Given the description of an element on the screen output the (x, y) to click on. 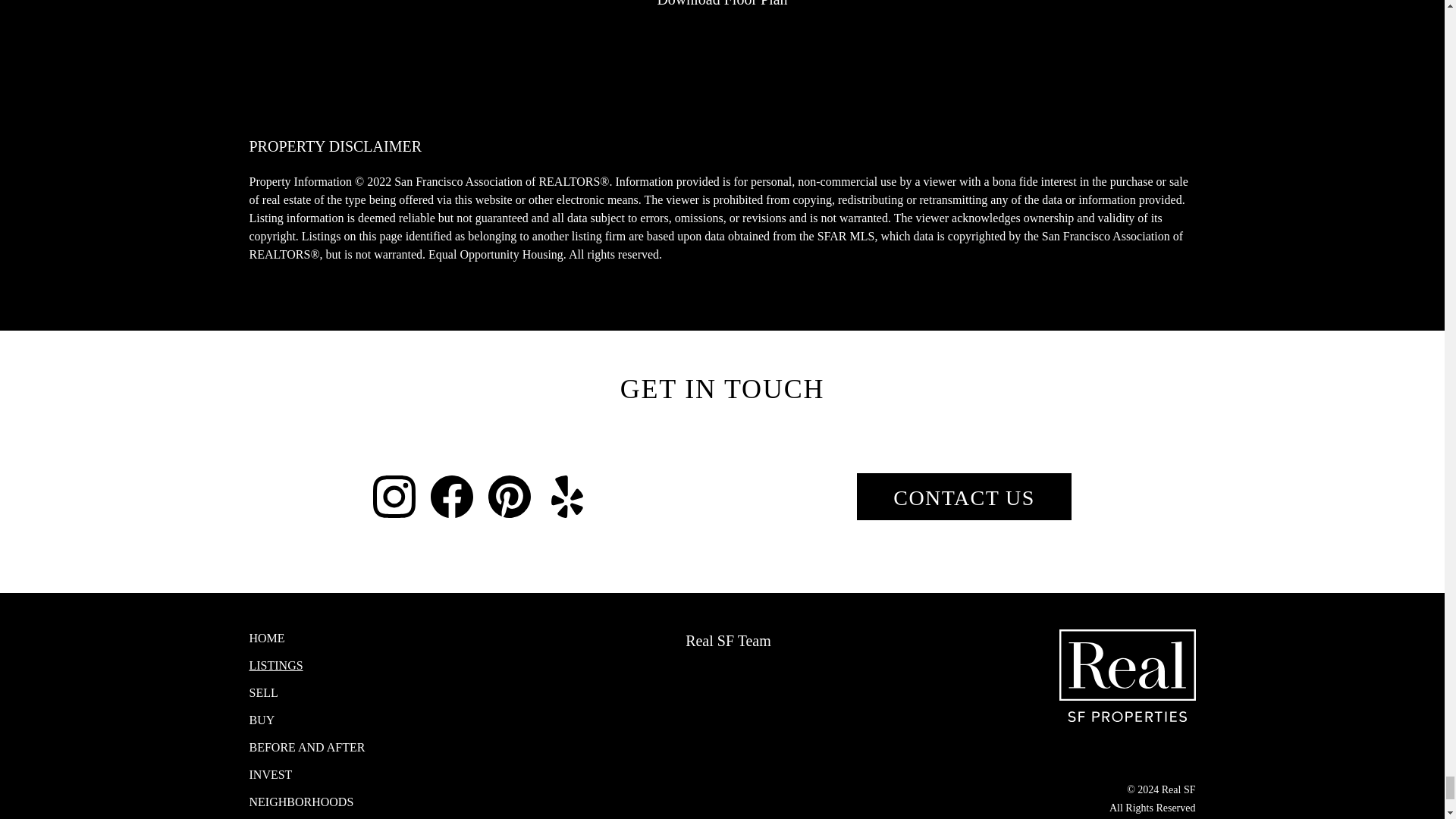
Facebook New Window (451, 496)
Yelp New Window (567, 496)
BEFORE AND AFTER (330, 747)
BUY (330, 720)
Download Floor Plan (721, 3)
HOME (330, 638)
CONTACT US (963, 496)
SELL (330, 692)
NEIGHBORHOODS (330, 802)
INVEST (330, 774)
